Given the description of an element on the screen output the (x, y) to click on. 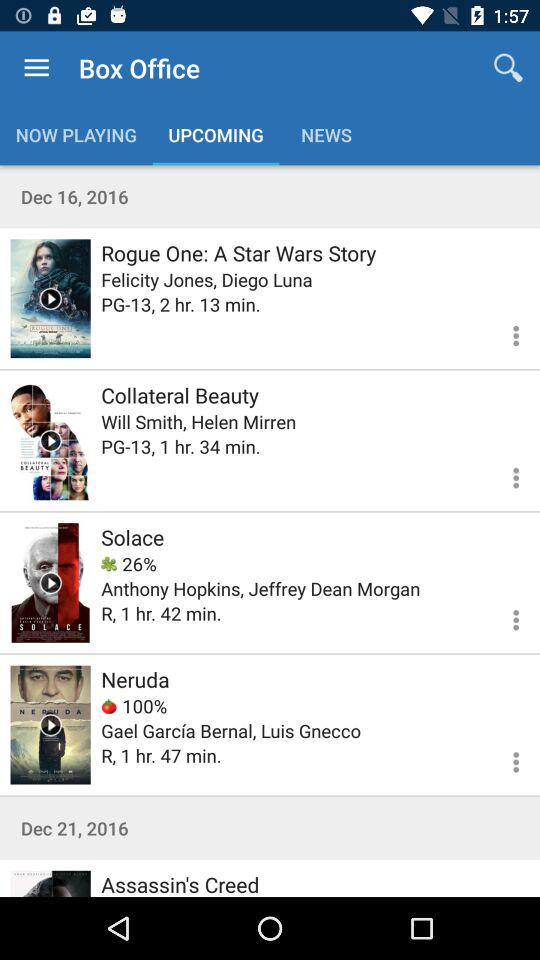
see more options (503, 617)
